Given the description of an element on the screen output the (x, y) to click on. 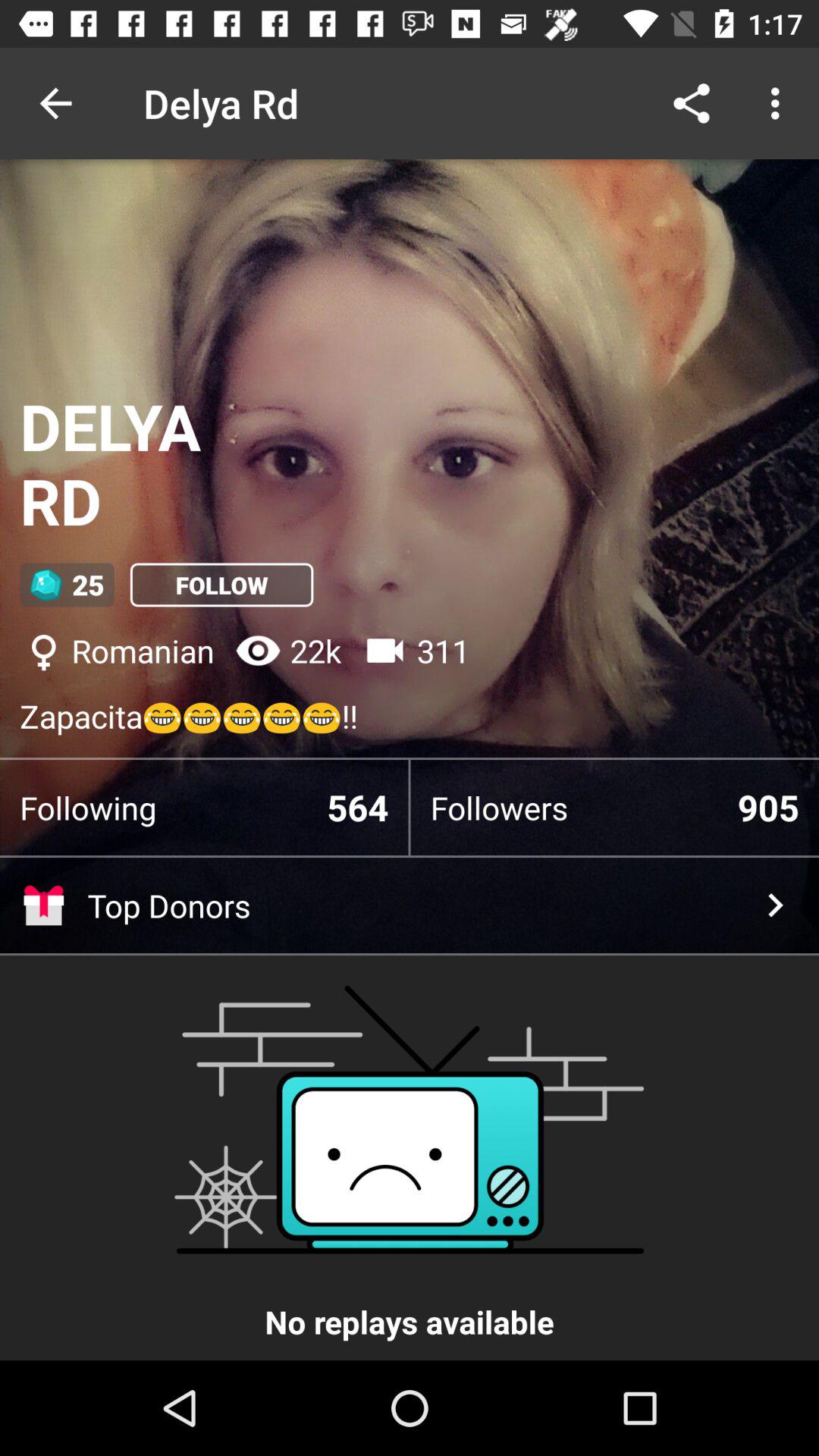
scroll until the follow (221, 584)
